Given the description of an element on the screen output the (x, y) to click on. 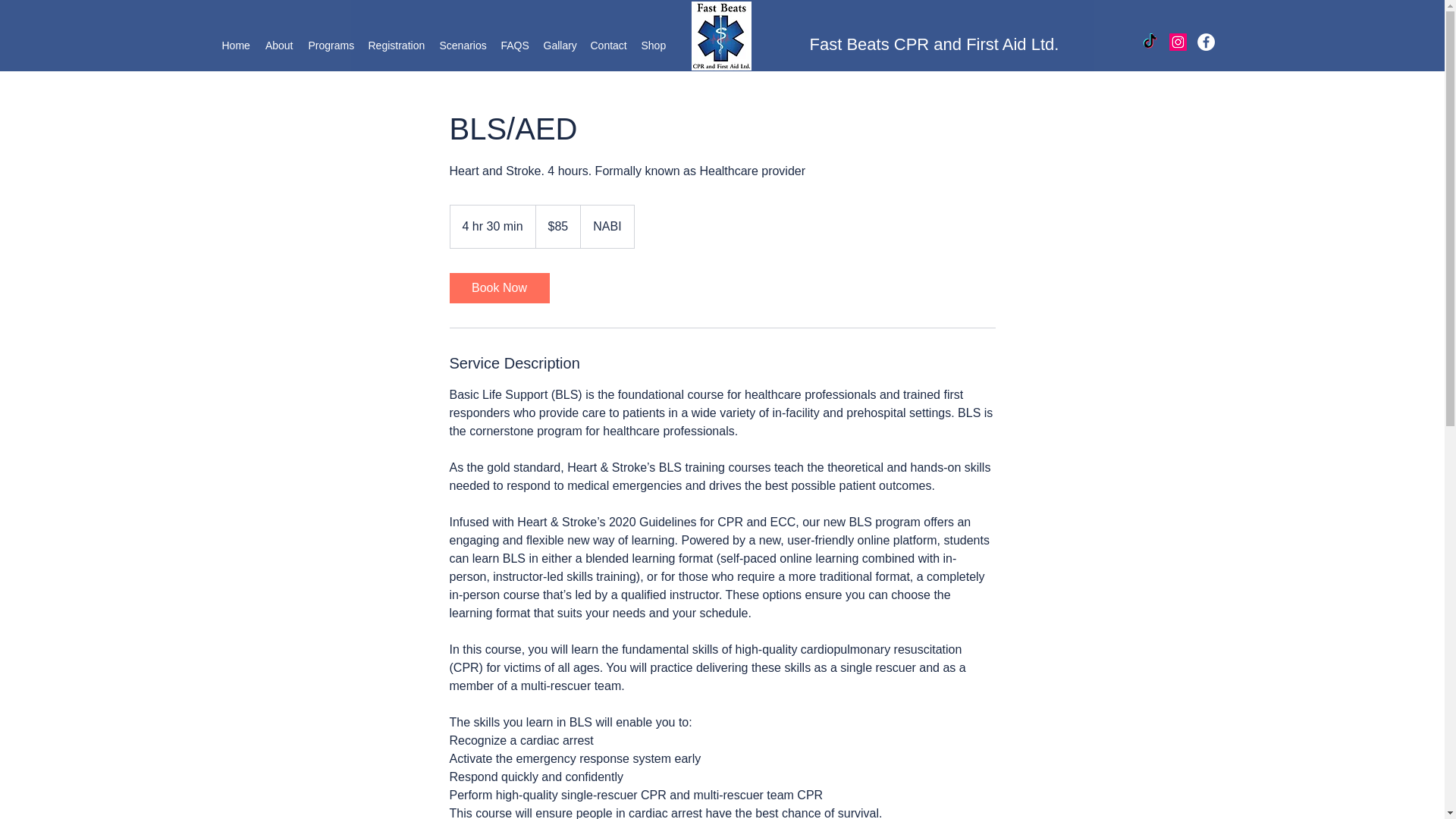
Scenarios (462, 45)
Gallary (558, 45)
Registration (396, 45)
Book Now (498, 287)
Fast Beats CPR and First Aid Ltd. (934, 44)
Shop (652, 45)
About (279, 45)
Home (235, 45)
FAQS (514, 45)
Contact (607, 45)
Programs (329, 45)
